Given the description of an element on the screen output the (x, y) to click on. 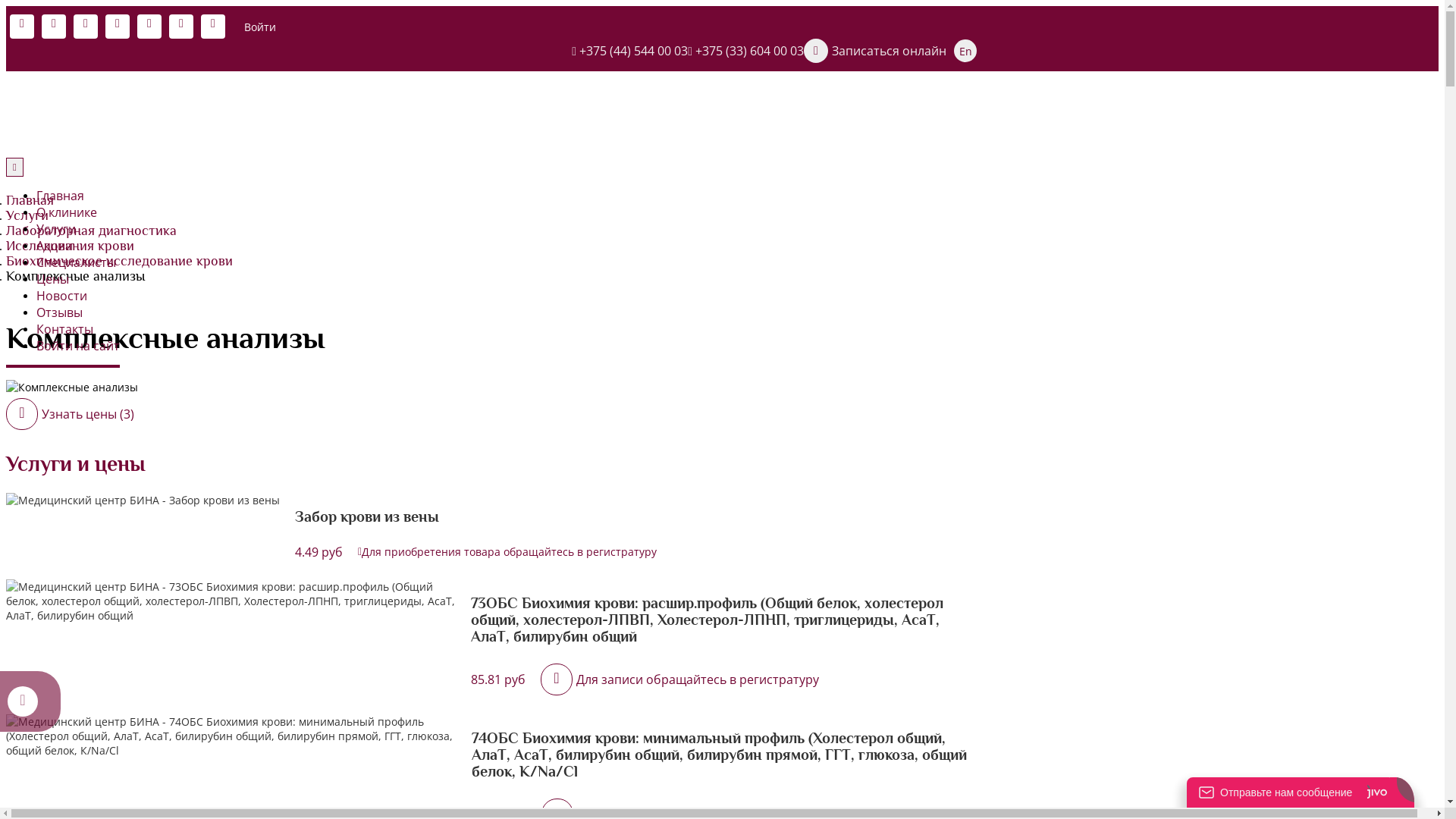
YouTube Element type: hover (149, 26)
Telgram Element type: hover (181, 26)
Instagram Element type: hover (117, 26)
+375 (44) 544 00 03 Element type: text (629, 50)
+375 (33) 604 00 03 Element type: text (745, 50)
LinkedIn Element type: hover (213, 26)
En Element type: text (964, 50)
Facebook Element type: hover (85, 26)
